Given the description of an element on the screen output the (x, y) to click on. 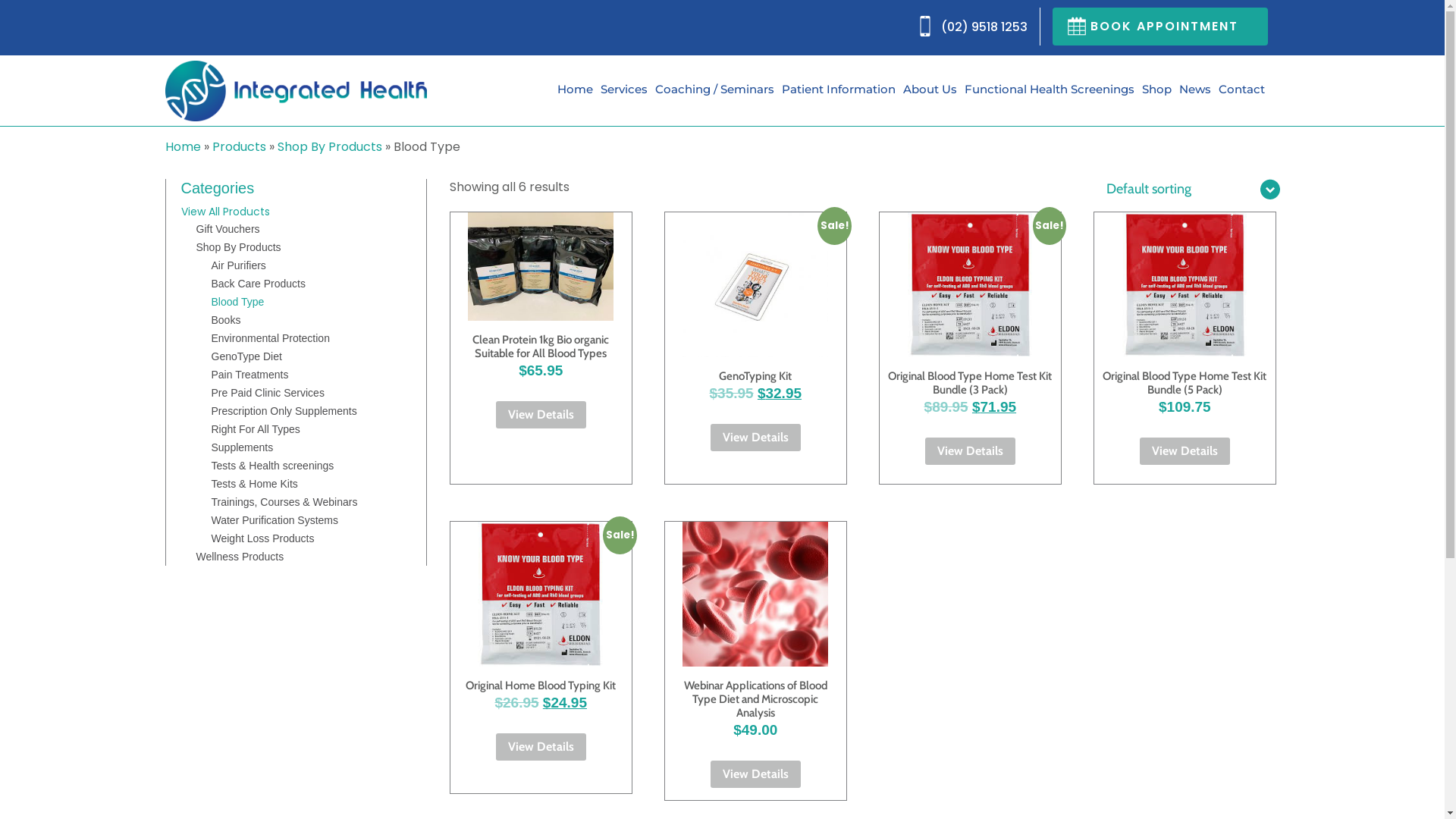
Original Blood Type Home Test Kit Bundle (5 Pack)
$109.75 Element type: text (1184, 335)
Contact Element type: text (1240, 89)
Products Element type: text (239, 146)
About Us Element type: text (929, 89)
GenoType Diet Element type: text (245, 356)
Home Element type: text (574, 89)
View All Products Element type: text (224, 211)
Coaching / Seminars Element type: text (714, 89)
BOOK APPOINTMENT Element type: text (1159, 26)
View Details Element type: text (1184, 450)
Trainings, Courses & Webinars Element type: text (283, 501)
Weight Loss Products Element type: text (261, 538)
View Details Element type: text (540, 414)
View Details Element type: text (540, 746)
Air Purifiers Element type: text (237, 265)
Back Care Products Element type: text (257, 283)
Wellness Products Element type: text (239, 556)
Environmental Protection Element type: text (269, 338)
Shop By Products Element type: text (329, 146)
Water Purification Systems Element type: text (274, 520)
Books Element type: text (225, 319)
Services Element type: text (623, 89)
Home Element type: text (182, 146)
Blood Type Element type: text (236, 301)
Functional Health Screenings Element type: text (1049, 89)
Prescription Only Supplements Element type: text (283, 410)
Pain Treatments Element type: text (249, 374)
Shop Element type: text (1156, 89)
Patient Information Element type: text (837, 89)
Supplements Element type: text (241, 447)
Right For All Types Element type: text (254, 429)
View Details Element type: text (755, 437)
Pre Paid Clinic Services Element type: text (266, 392)
News Element type: text (1194, 89)
View Details Element type: text (970, 450)
(02) 9518 1253 Element type: text (983, 26)
Shop By Products Element type: text (237, 247)
Tests & Health screenings Element type: text (271, 465)
View Details Element type: text (755, 773)
Gift Vouchers Element type: text (227, 228)
Sale!
Original Home Blood Typing Kit
$26.95 $24.95 Element type: text (540, 638)
Tests & Home Kits Element type: text (253, 483)
Sale!
GenoTyping Kit
$35.95 $32.95 Element type: text (755, 328)
